Given the description of an element on the screen output the (x, y) to click on. 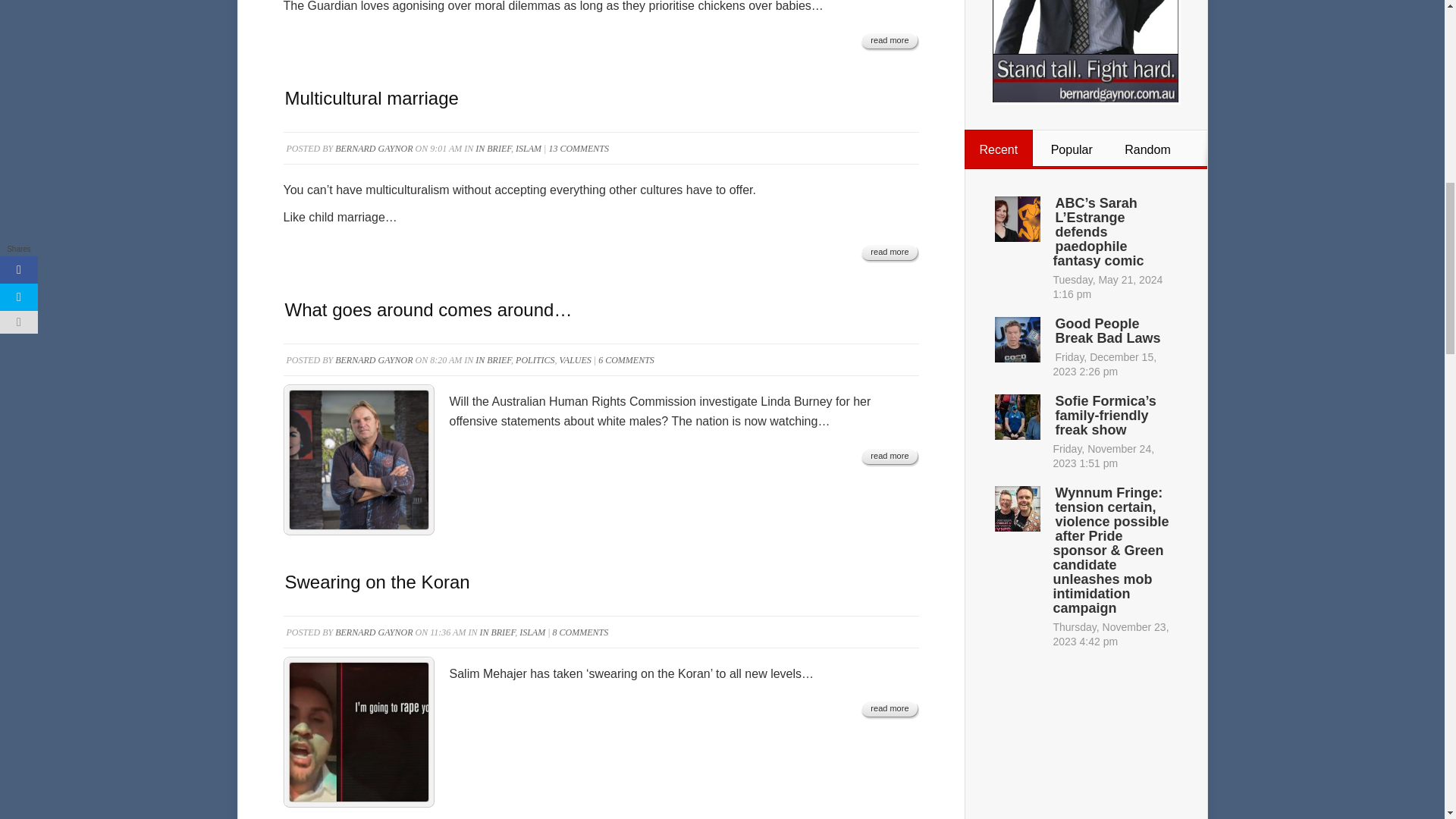
IN BRIEF (493, 148)
Posts by Bernard Gaynor (373, 148)
BERNARD GAYNOR (373, 148)
13 COMMENTS (578, 148)
ISLAM (528, 148)
Posts by Bernard Gaynor (373, 632)
Posts by Bernard Gaynor (373, 359)
Multicultural marriage (371, 97)
read more (889, 41)
